Given the description of an element on the screen output the (x, y) to click on. 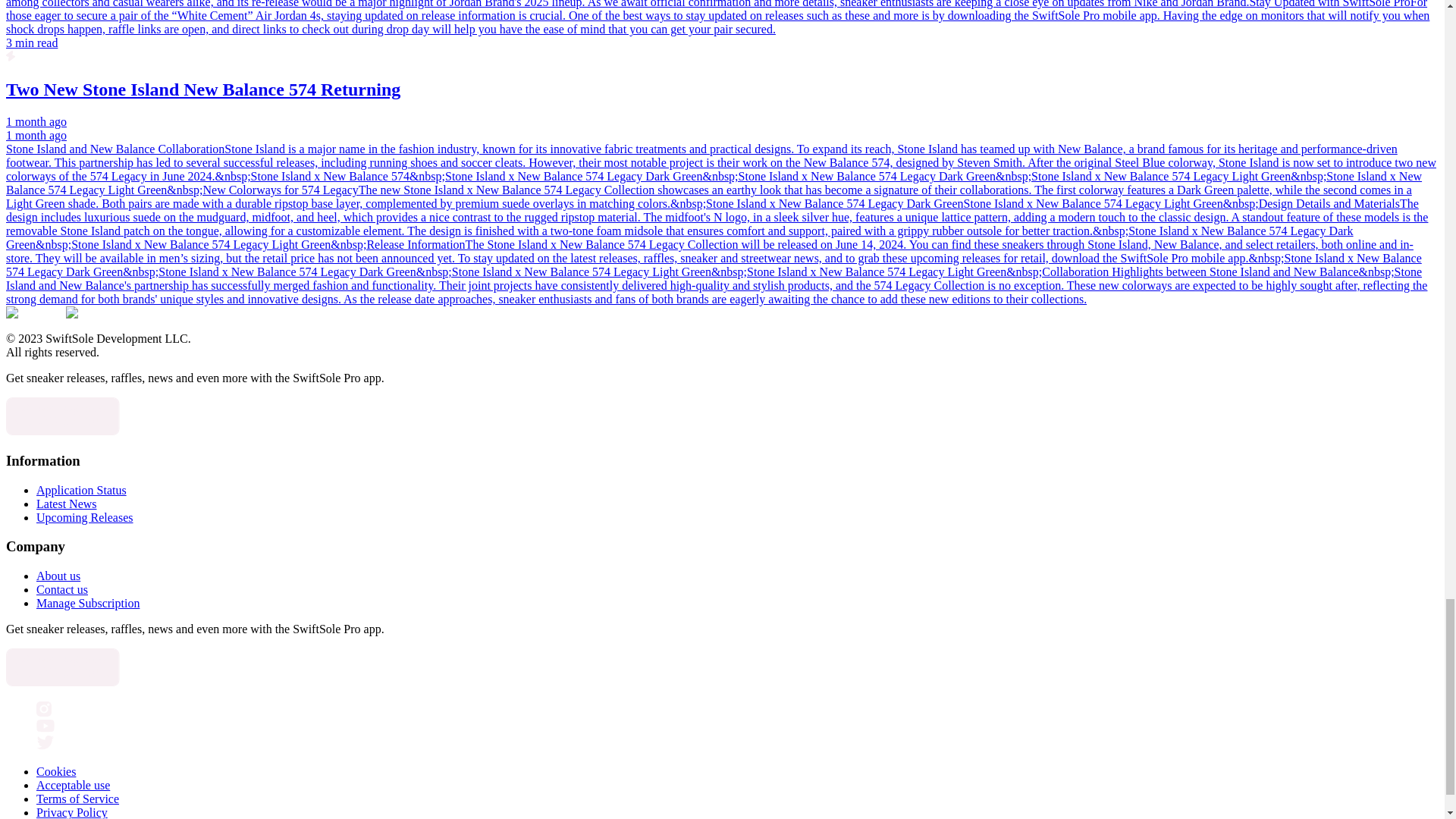
Upcoming Releases (84, 517)
Contact us (61, 589)
About us (58, 575)
Latest News (66, 503)
Application Status (81, 490)
Manage Subscription (87, 603)
